Given the description of an element on the screen output the (x, y) to click on. 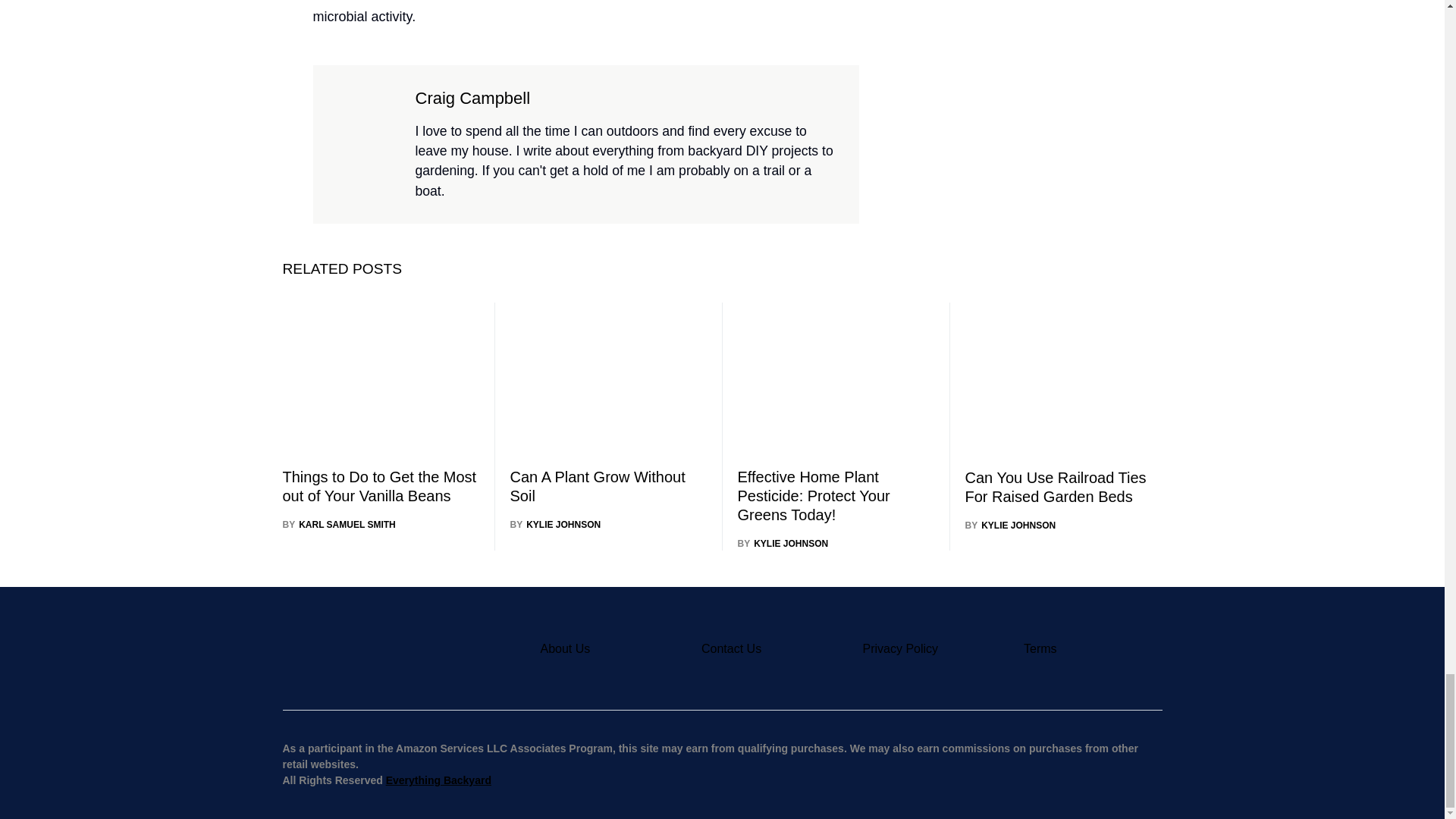
View all posts by Kylie Johnson (1009, 525)
View all posts by Kylie Johnson (782, 543)
View all posts by Karl Samuel Smith (338, 524)
View all posts by Kylie Johnson (554, 524)
